Given the description of an element on the screen output the (x, y) to click on. 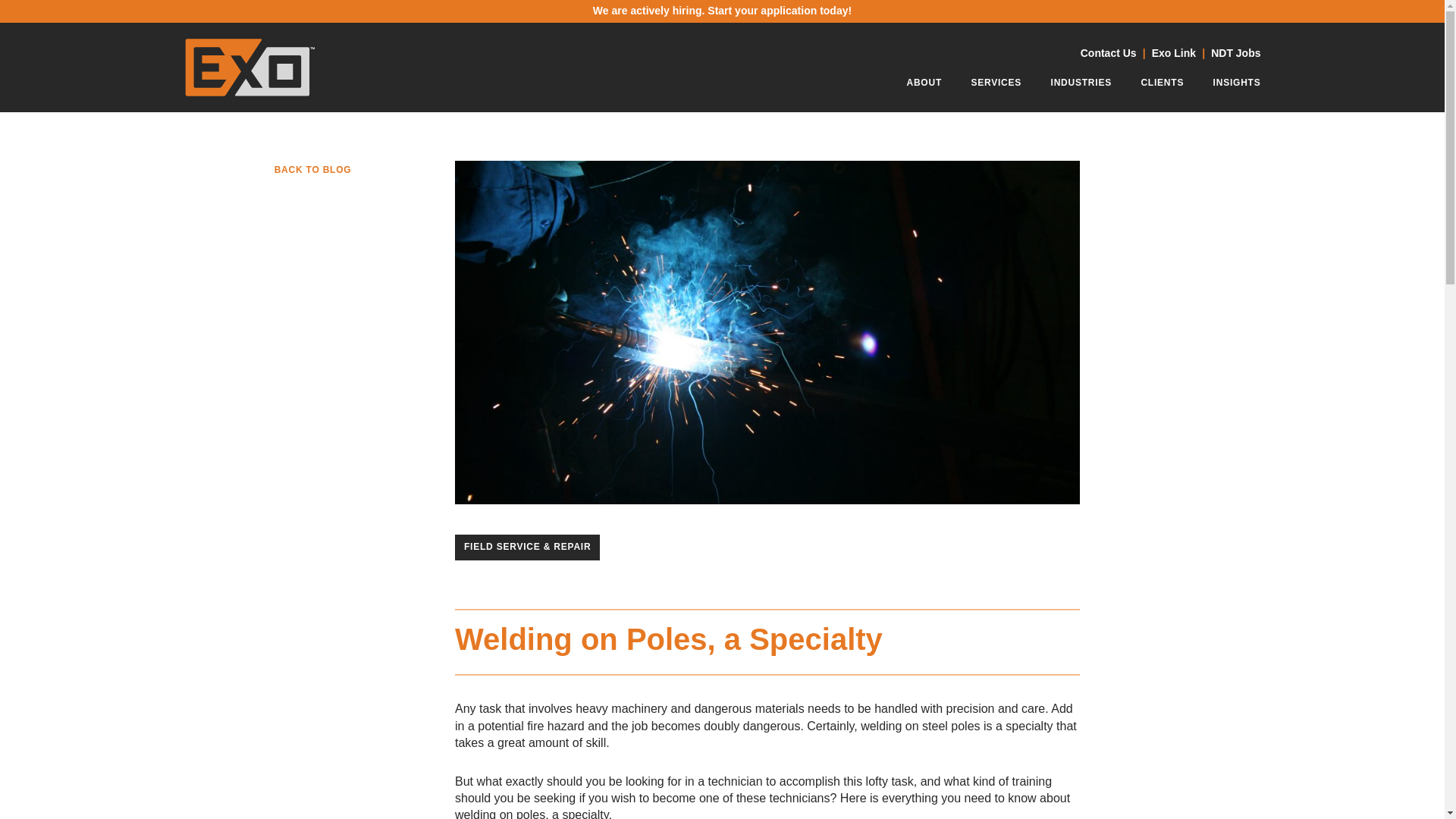
CLIENTS (1161, 85)
INDUSTRIES (1081, 85)
Contact Us (1108, 52)
Exo Link (1173, 52)
NDT Jobs (1235, 52)
SERVICES (996, 85)
We are actively hiring. Start your application today! (722, 11)
INSIGHTS (1236, 85)
ABOUT (923, 85)
